Given the description of an element on the screen output the (x, y) to click on. 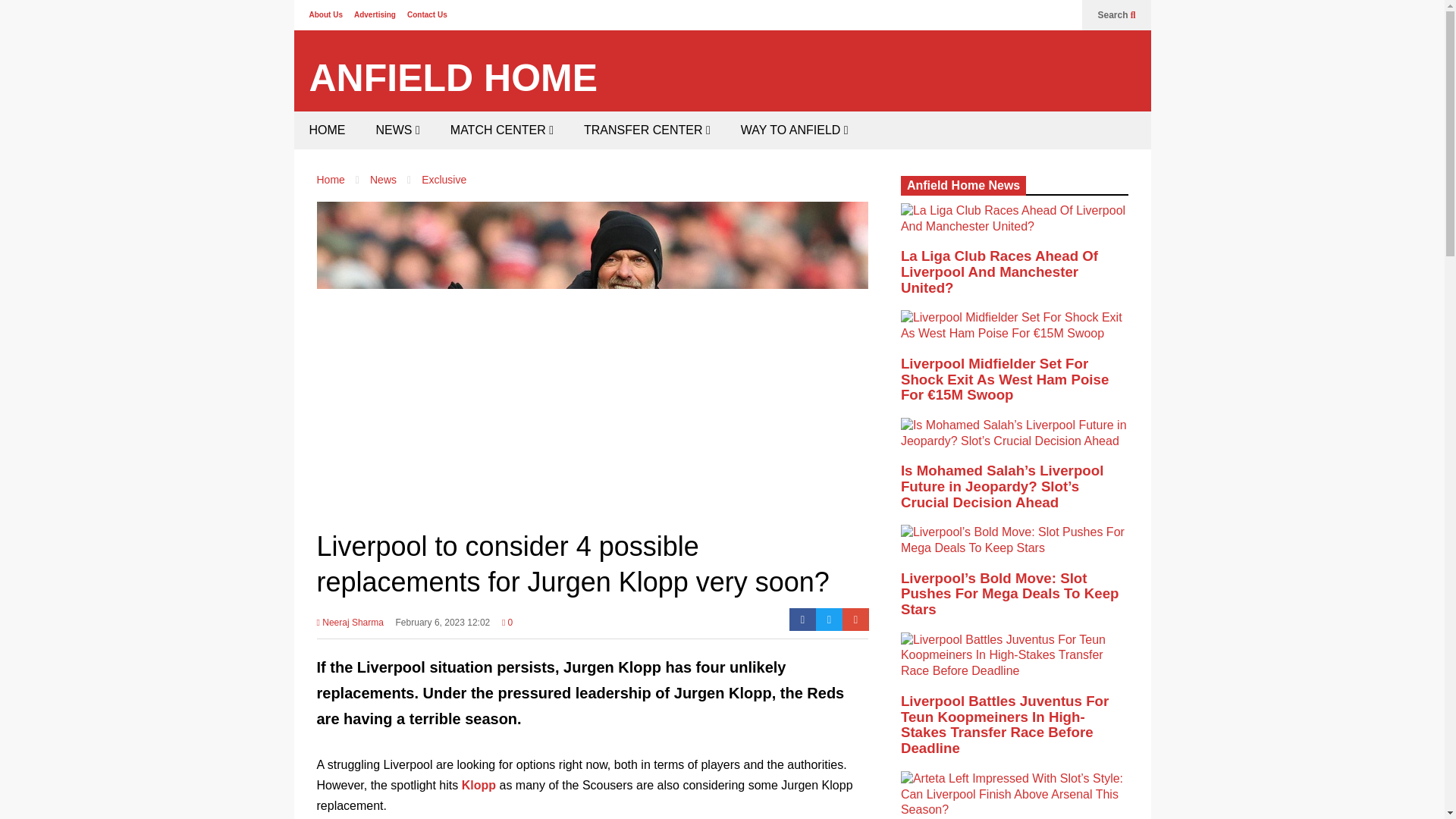
MATCH CENTER (502, 130)
February 6, 2023 12:02 (443, 626)
Neeraj Sharma (350, 626)
NEWS (398, 130)
WAY TO ANFIELD (794, 130)
HOME (327, 130)
ANFIELD HOME (453, 78)
Search (1116, 15)
Facebook (802, 619)
ANFIELD HOME (453, 78)
Google-plus (856, 619)
Twitter (829, 619)
Home (331, 179)
About Us (325, 14)
